Given the description of an element on the screen output the (x, y) to click on. 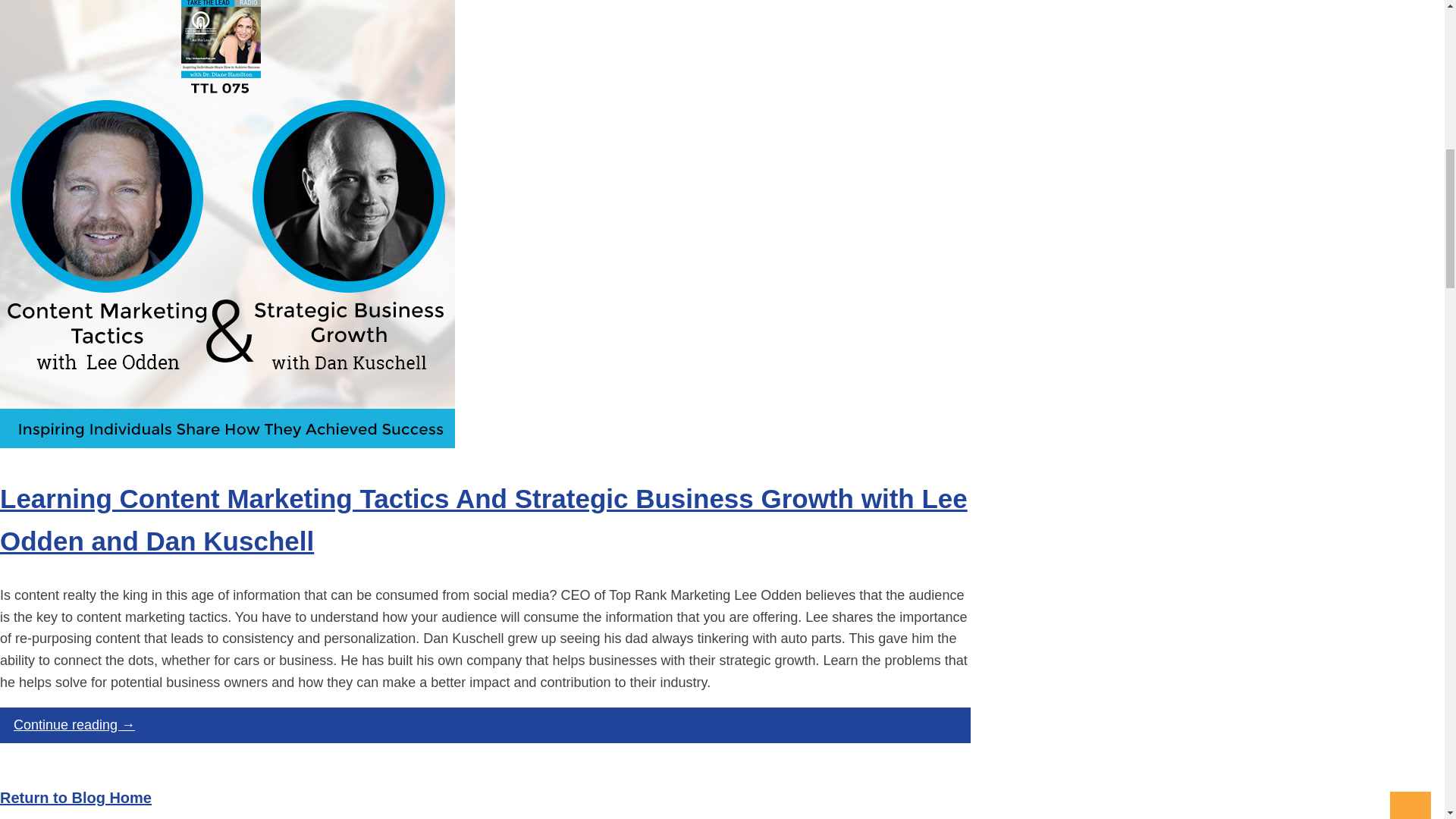
Return to Blog Home (75, 797)
